Given the description of an element on the screen output the (x, y) to click on. 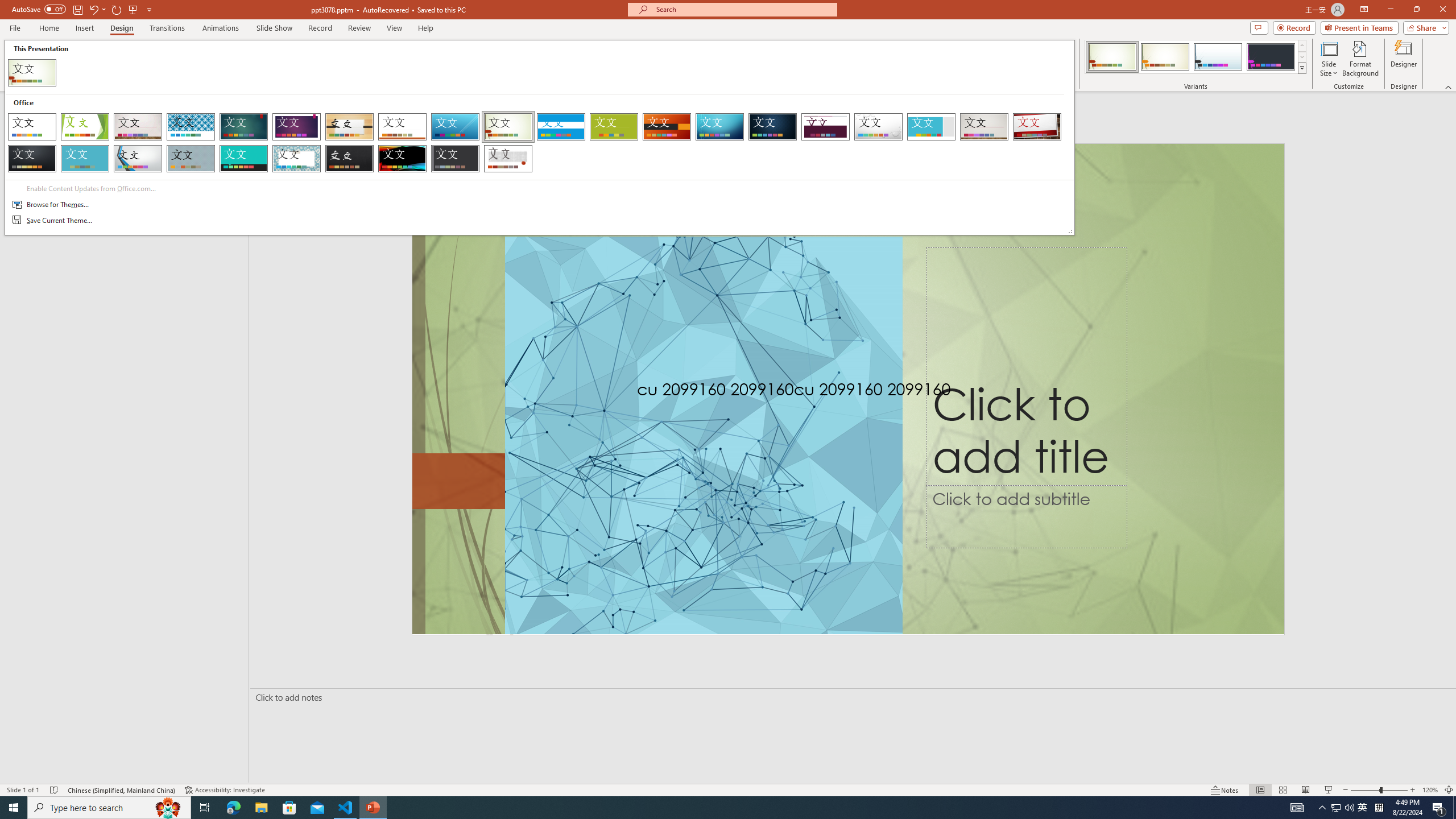
Designer (1403, 58)
Q2790: 100% (1349, 807)
Wisp Variant 4 (1270, 56)
